Given the description of an element on the screen output the (x, y) to click on. 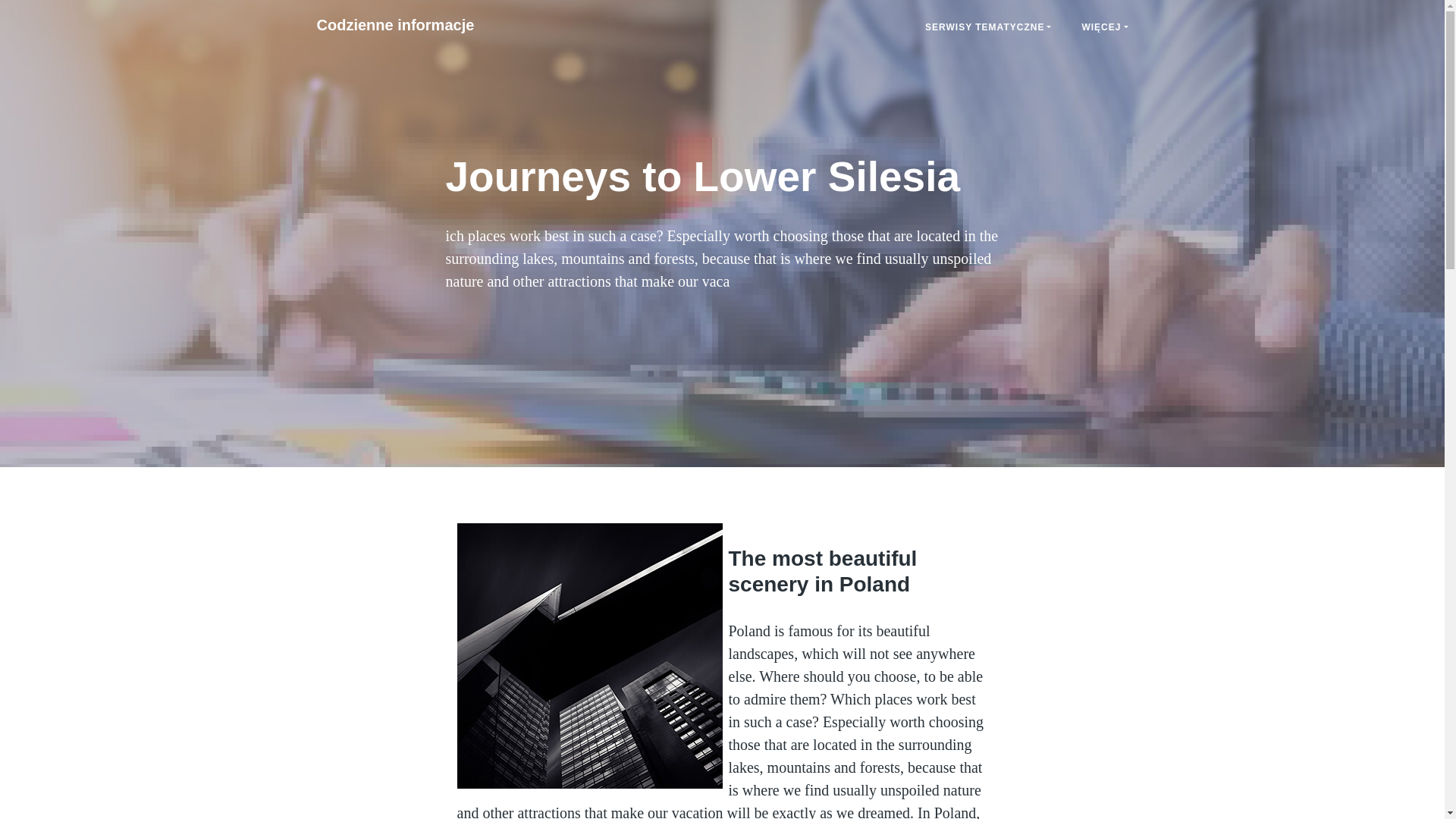
Journeys to Lower Silesia (395, 24)
SERWISY TEMATYCZNE (987, 27)
Codzienne informacje (395, 24)
